Given the description of an element on the screen output the (x, y) to click on. 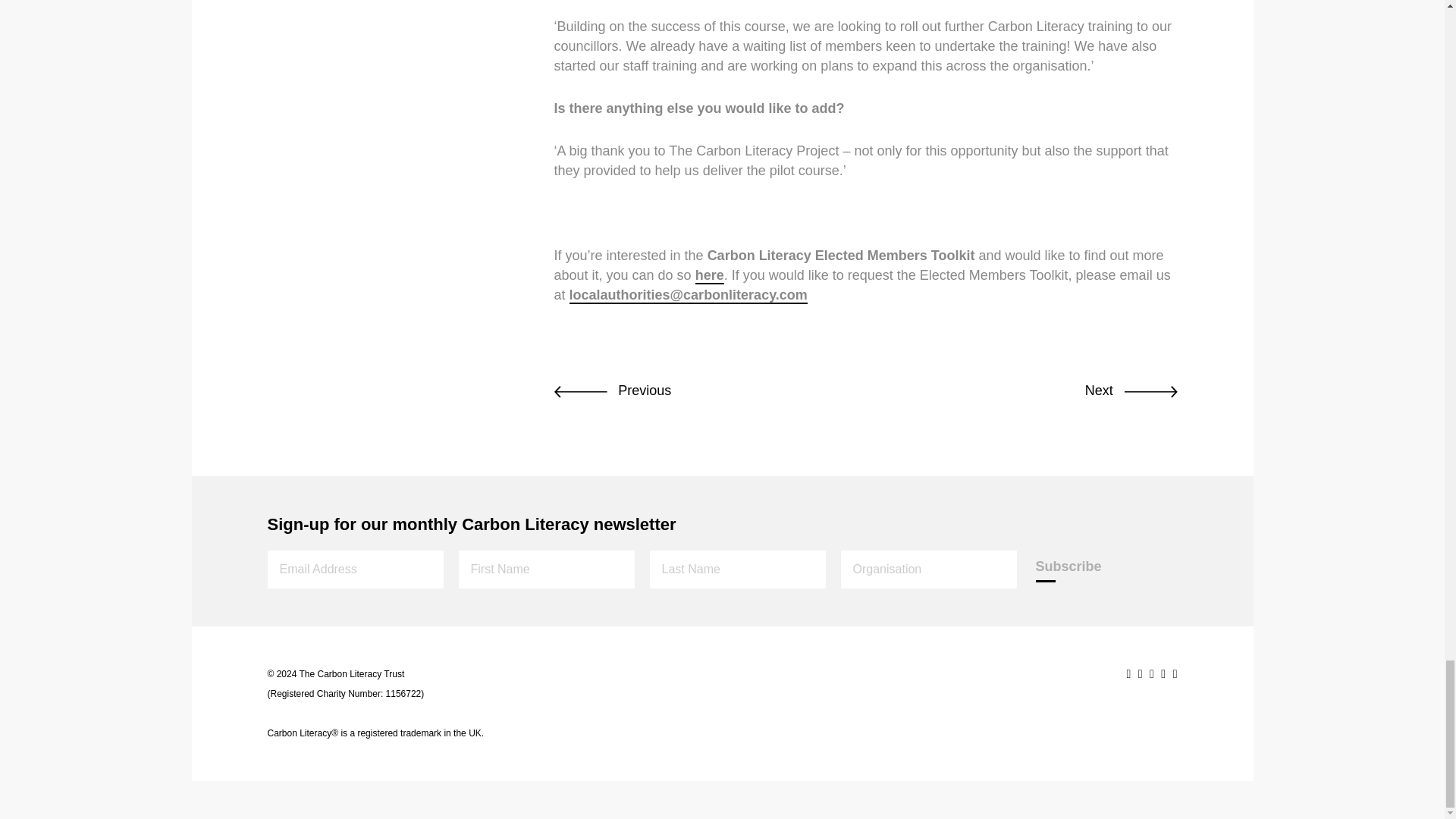
Subscribe (1068, 566)
